Given the description of an element on the screen output the (x, y) to click on. 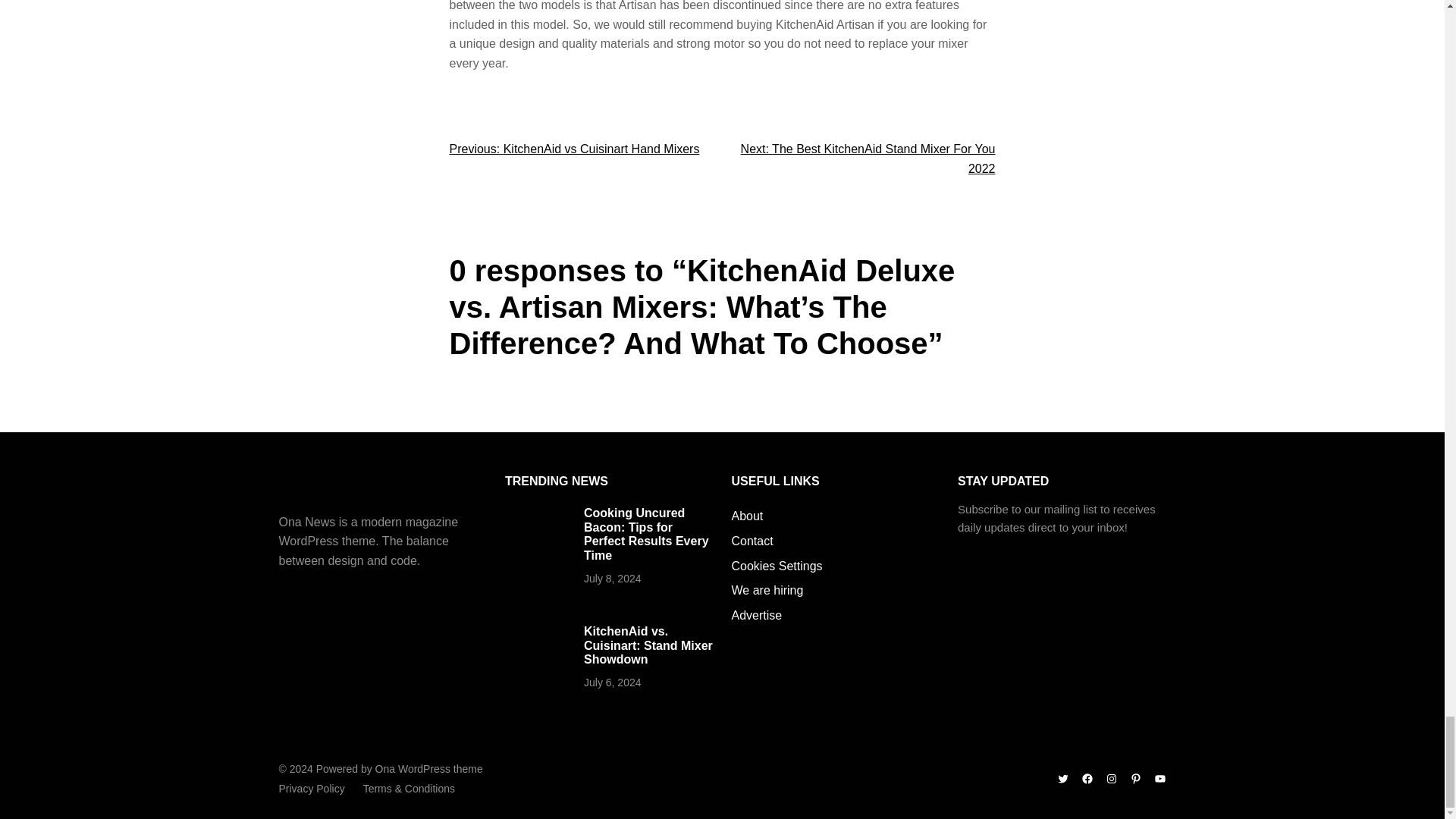
Advertise (755, 615)
Contact (751, 541)
About (746, 516)
Ona WordPress theme (429, 768)
Previous: KitchenAid vs Cuisinart Hand Mixers (573, 148)
KitchenAid vs. Cuisinart: Stand Mixer Showdown (648, 644)
We are hiring (766, 590)
Next: The Best KitchenAid Stand Mixer For You 2022 (868, 158)
Cookies Settings (776, 566)
Cooking Uncured Bacon: Tips for Perfect Results Every Time (646, 533)
